Given the description of an element on the screen output the (x, y) to click on. 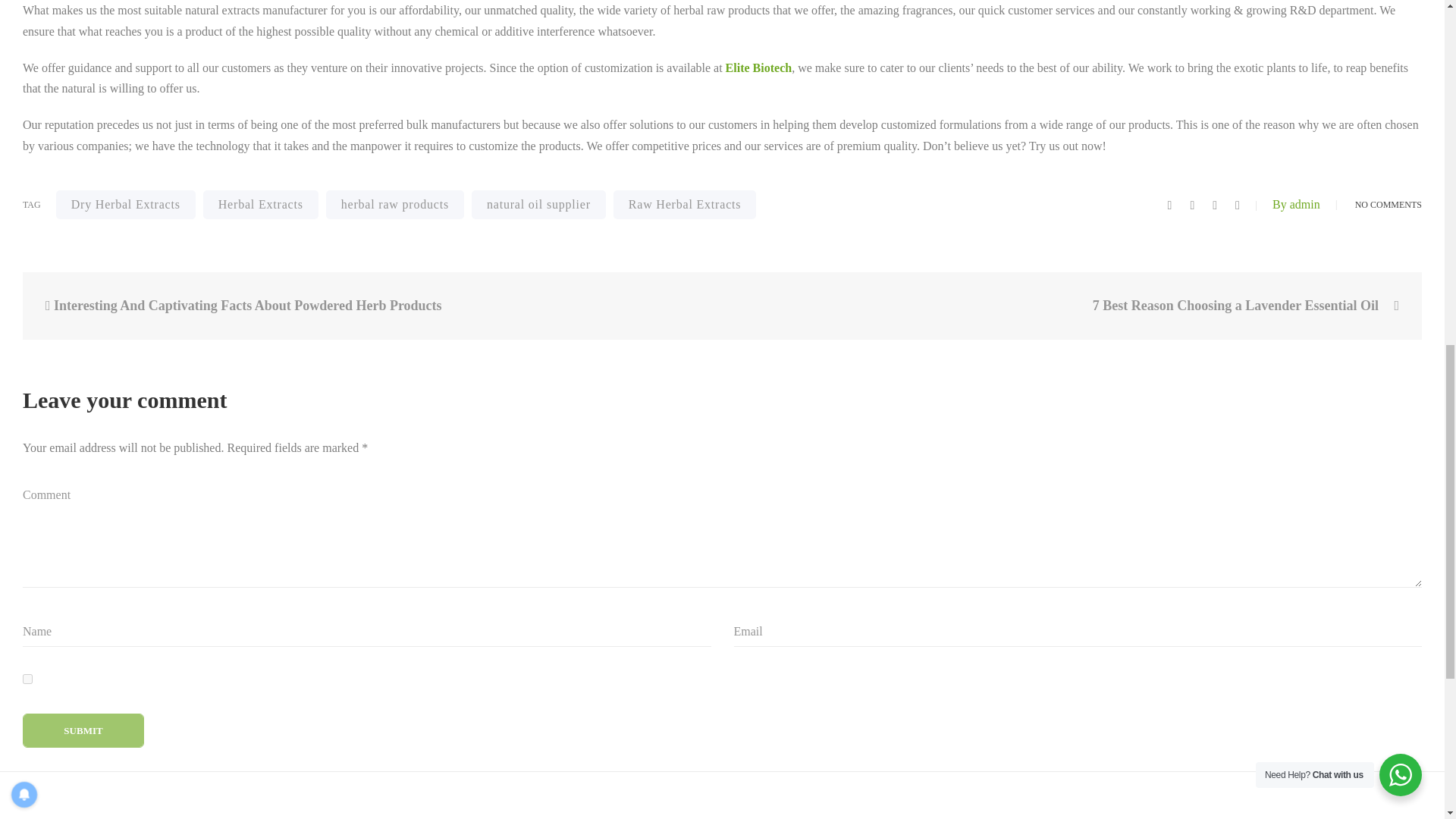
Raw Herbal Extracts (683, 204)
admin (1296, 204)
natural oil supplier (538, 204)
Dry Herbal Extracts (125, 204)
Submit (83, 730)
Elite Biotech (758, 67)
herbal raw products (395, 204)
7 Best Reason Choosing a Lavender Essential Oil (1079, 305)
Herbal Extracts (260, 204)
yes (27, 678)
